Given the description of an element on the screen output the (x, y) to click on. 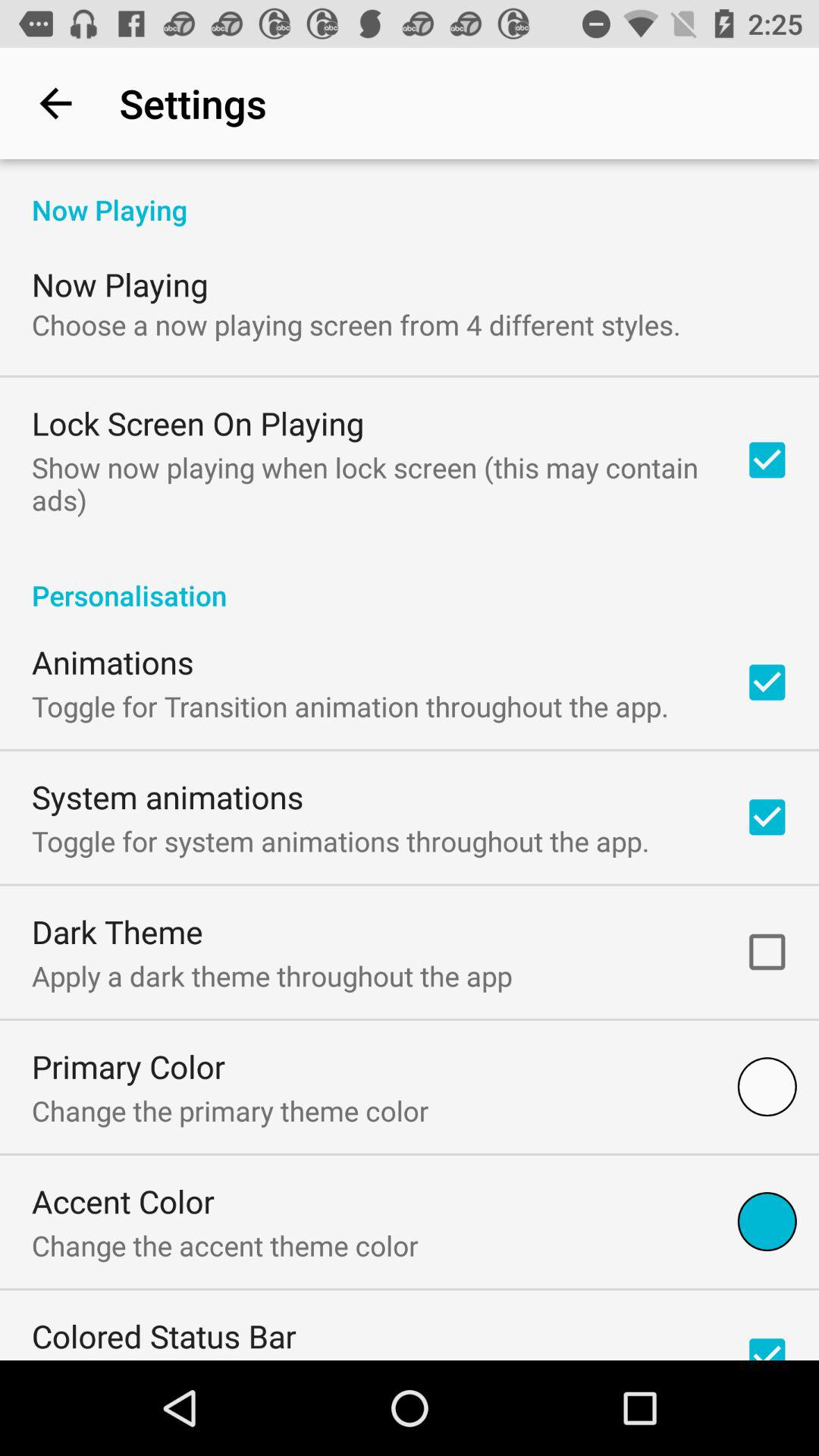
choose item below dark theme (271, 975)
